Given the description of an element on the screen output the (x, y) to click on. 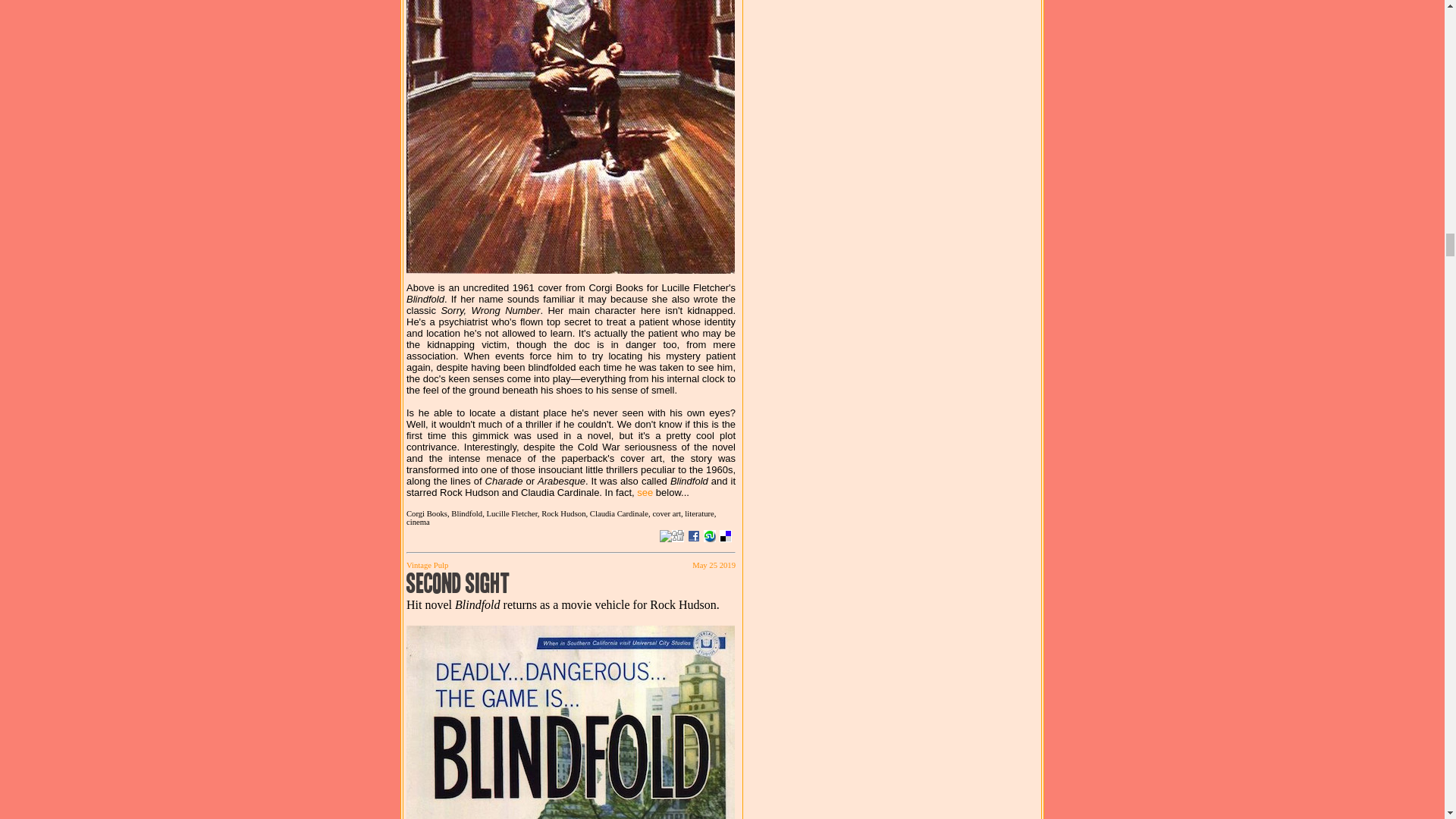
digg:Vintage cover for Blindfold by Lucille Fletcher (677, 535)
Share this on Facebook (693, 535)
StumbleUpon:Vintage cover for Blindfold by Lucille Fletcher (709, 535)
